Given the description of an element on the screen output the (x, y) to click on. 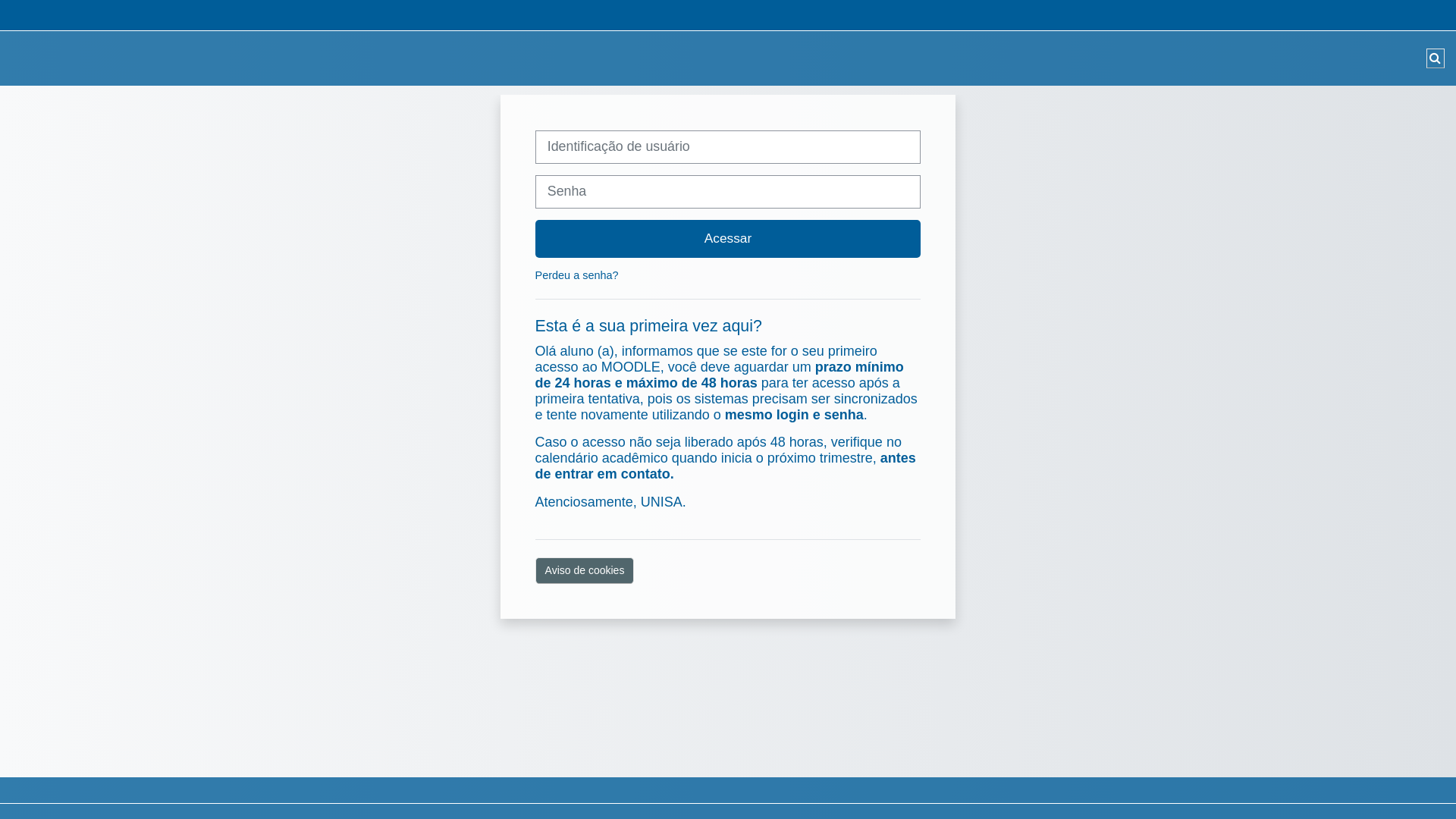
Aviso de cookies Element type: text (584, 570)
Perdeu a senha? Element type: text (576, 275)
Alternar entrada de pesquisa Element type: text (1435, 58)
Acessar Element type: text (728, 238)
